Given the description of an element on the screen output the (x, y) to click on. 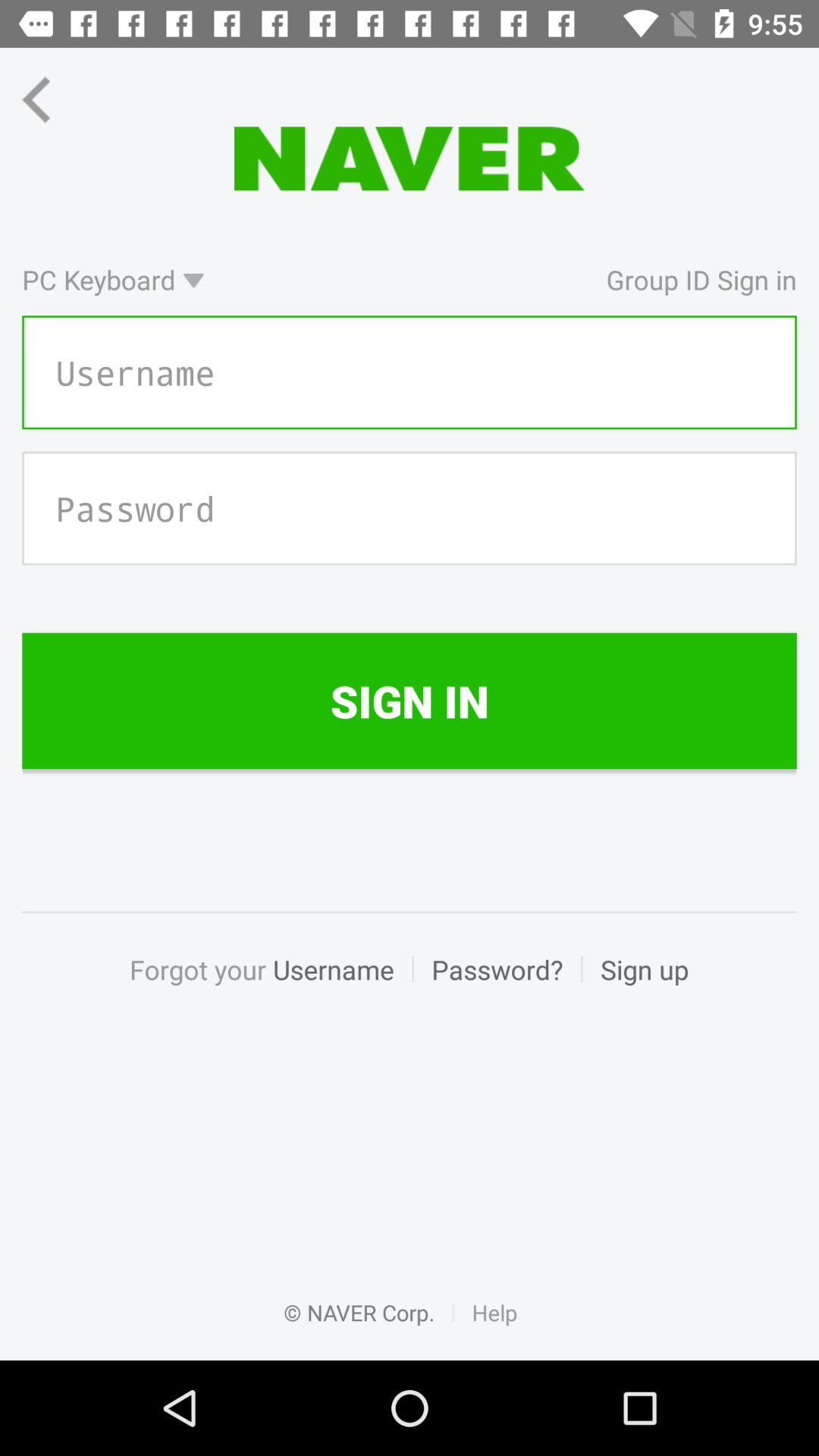
enter password (409, 508)
